Given the description of an element on the screen output the (x, y) to click on. 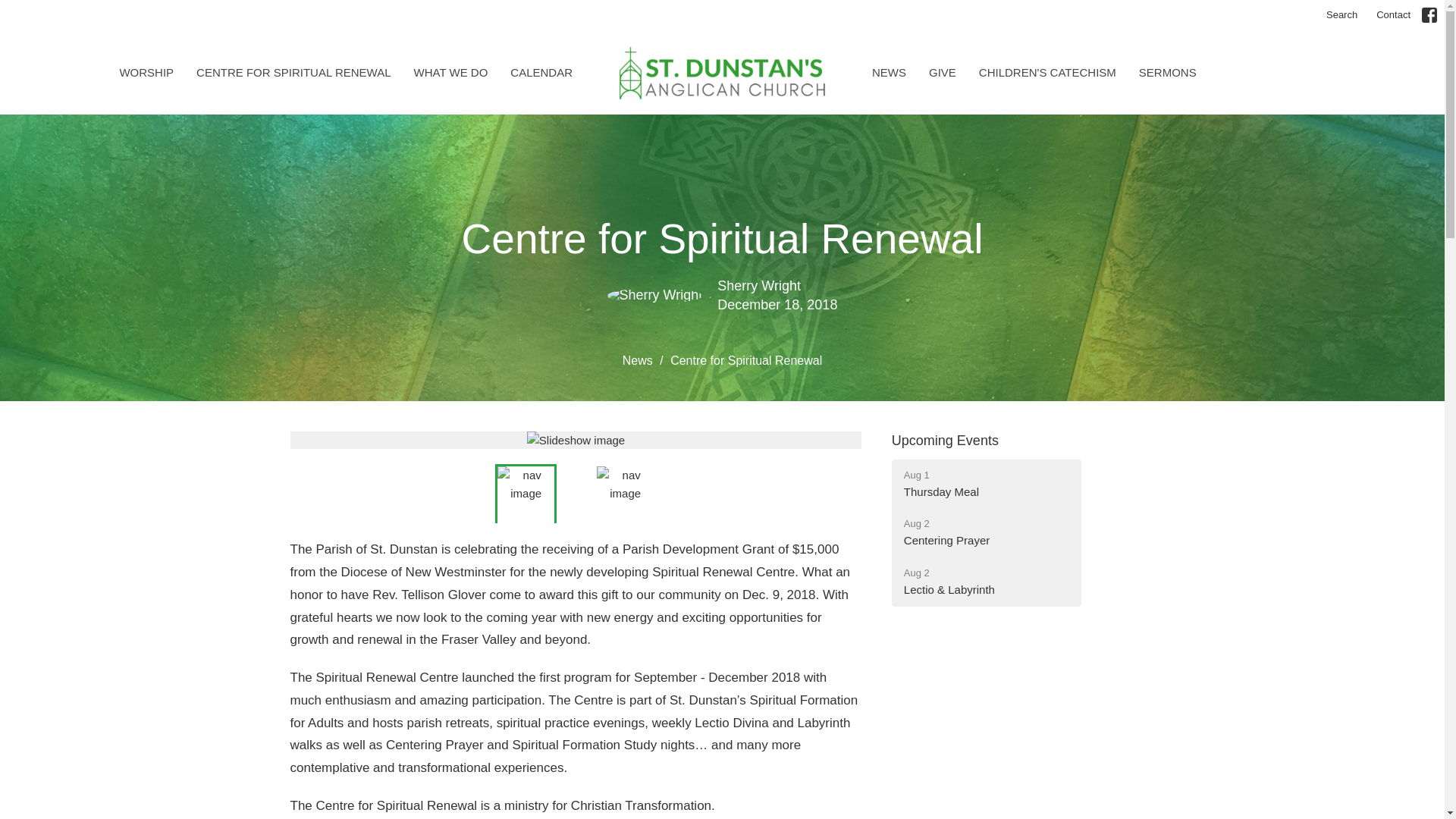
Contact (986, 483)
WORSHIP (1393, 15)
CALENDAR (146, 72)
CHILDREN'S CATECHISM (541, 72)
CENTRE FOR SPIRITUAL RENEWAL (1047, 72)
Upcoming Events (293, 72)
GIVE (944, 440)
WHAT WE DO (942, 72)
News (450, 72)
